Given the description of an element on the screen output the (x, y) to click on. 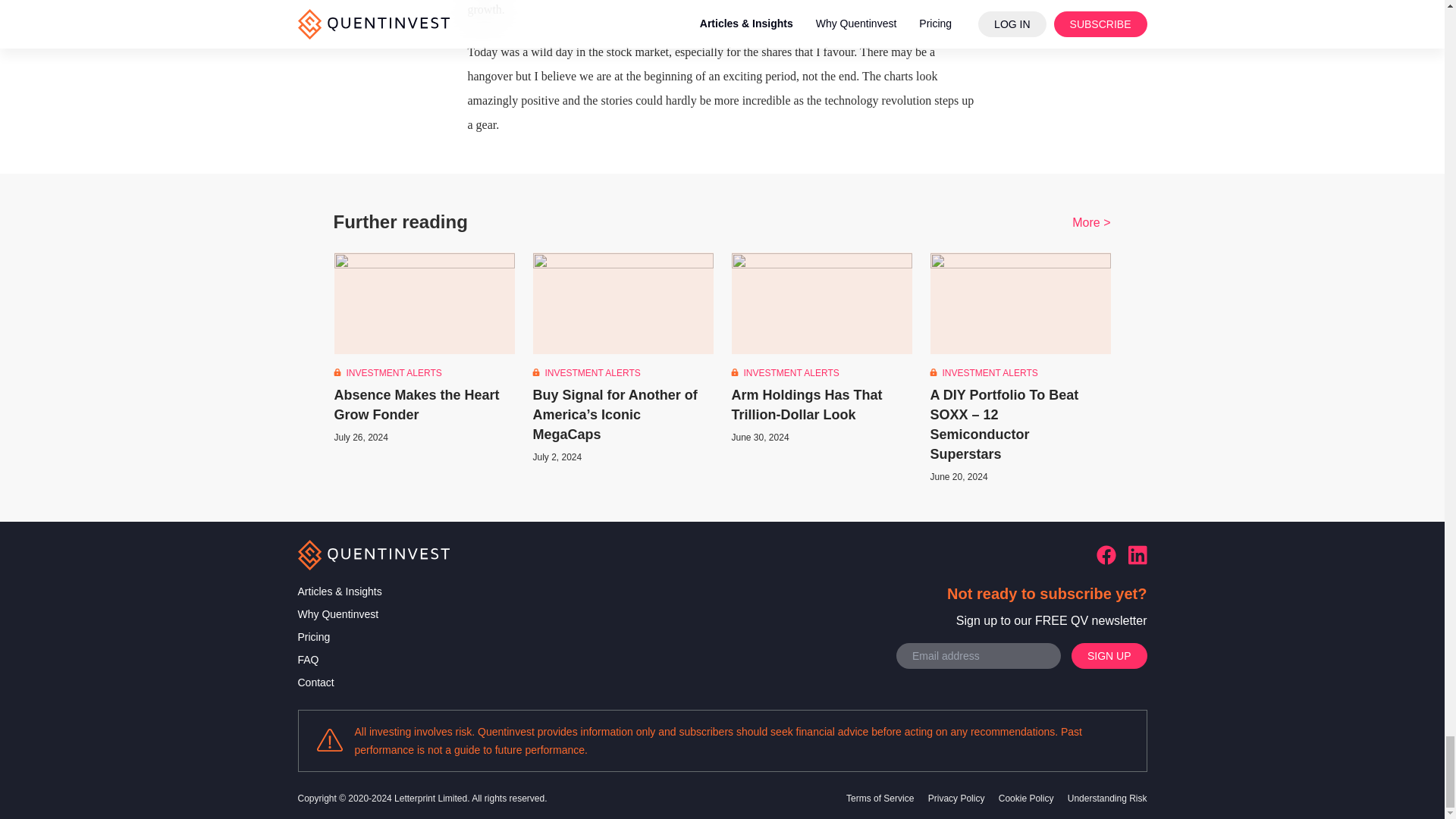
Pricing (339, 637)
Why Quentinvest (339, 614)
Terms of Service (881, 798)
FAQ (339, 659)
Sign Up (1109, 655)
Contact (339, 682)
Sign Up (1109, 655)
